Given the description of an element on the screen output the (x, y) to click on. 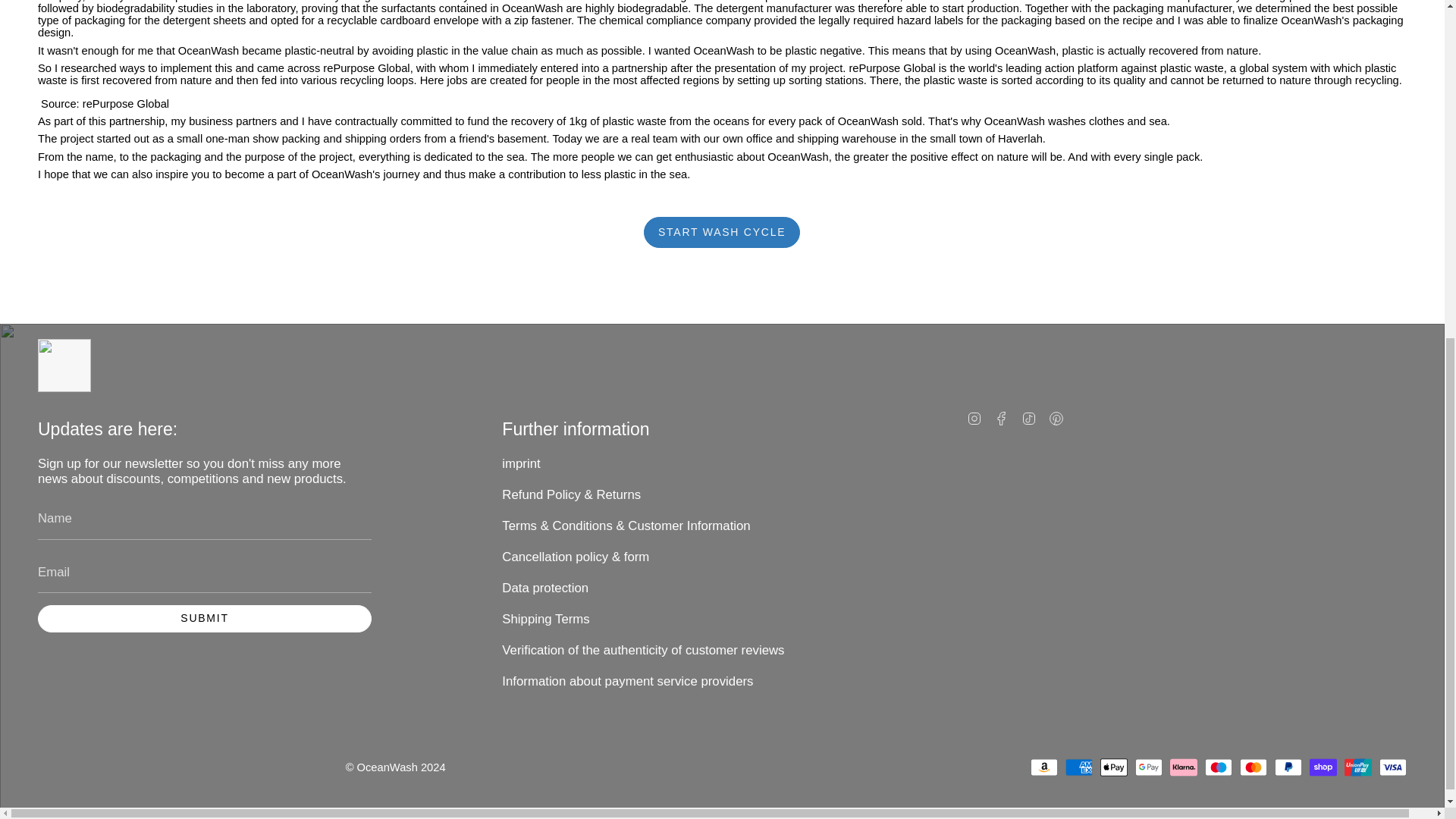
OceanWash on TikTok (1029, 418)
OceanWash on Instagram (973, 418)
OceanWash on Pinterest (1056, 418)
OceanWash on Facebook (1001, 418)
